Given the description of an element on the screen output the (x, y) to click on. 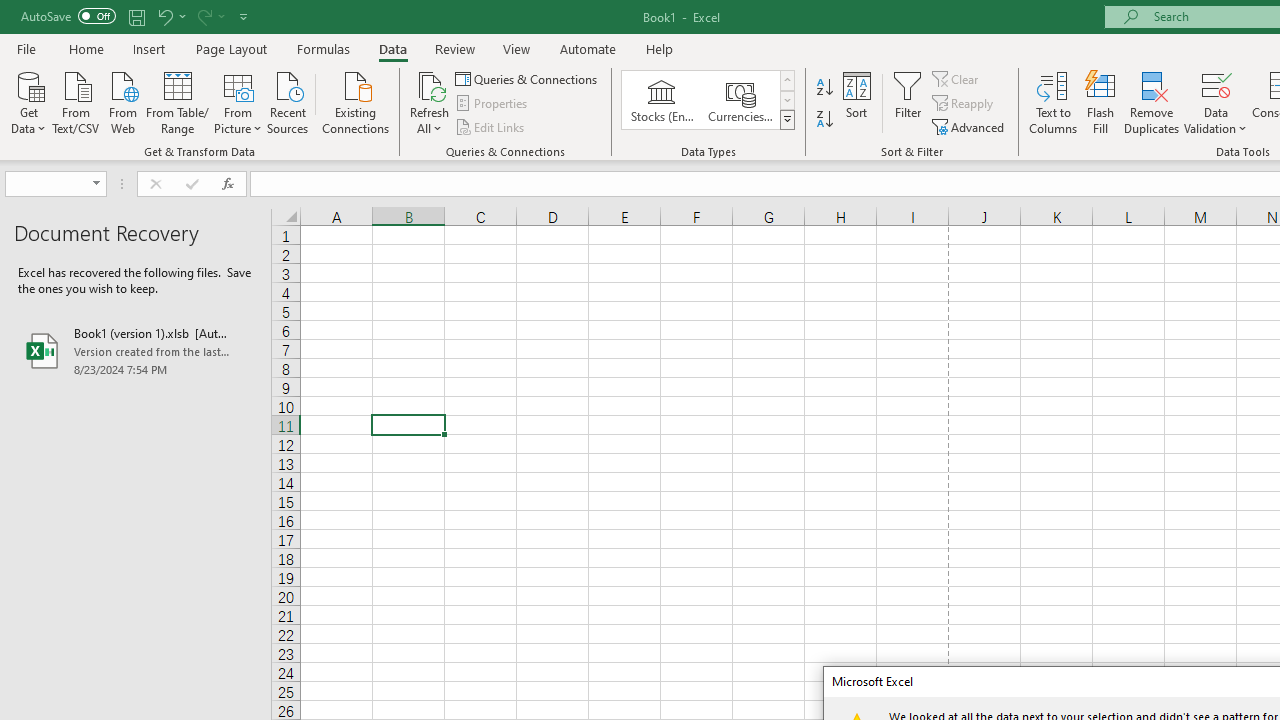
Sort Z to A (824, 119)
Sort A to Z (824, 87)
From Picture (238, 101)
